Given the description of an element on the screen output the (x, y) to click on. 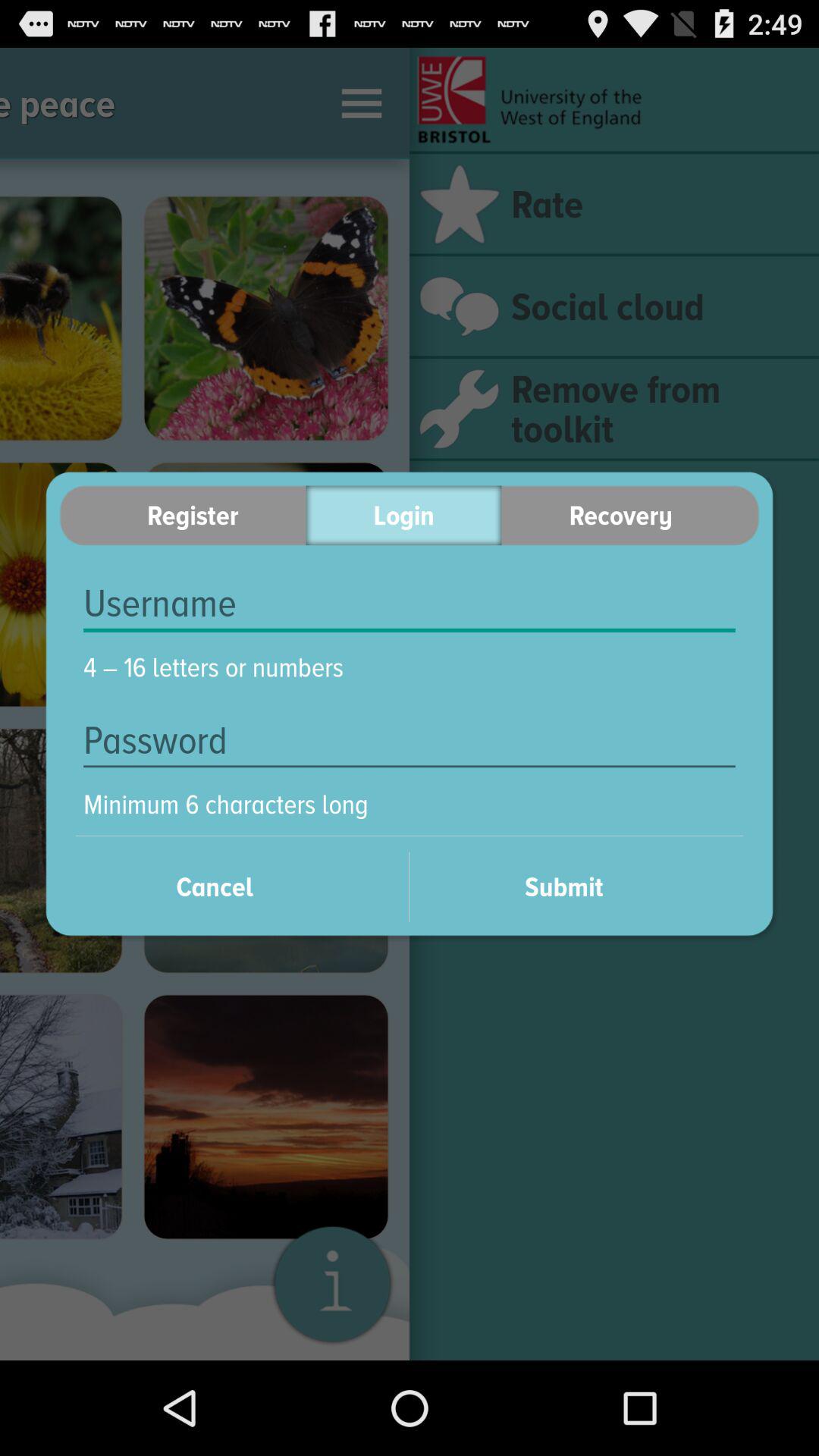
click item above minimum 6 characters item (409, 740)
